Given the description of an element on the screen output the (x, y) to click on. 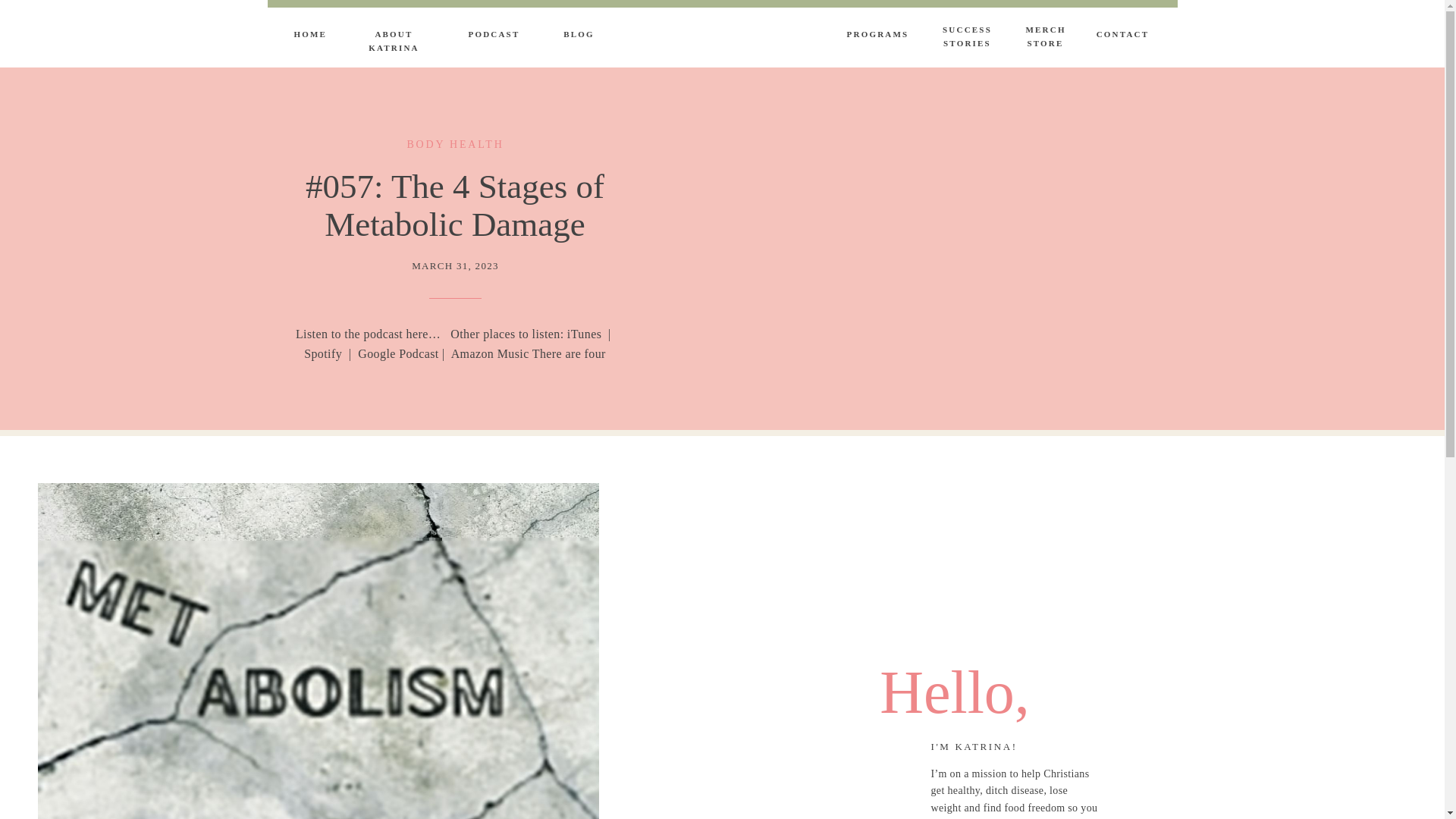
PODCAST (494, 36)
PROGRAMS (877, 36)
CONTACT (1123, 36)
HOME (309, 36)
BODY HEALTH (454, 143)
BLOG (966, 36)
ABOUT KATRINA (579, 36)
